Given the description of an element on the screen output the (x, y) to click on. 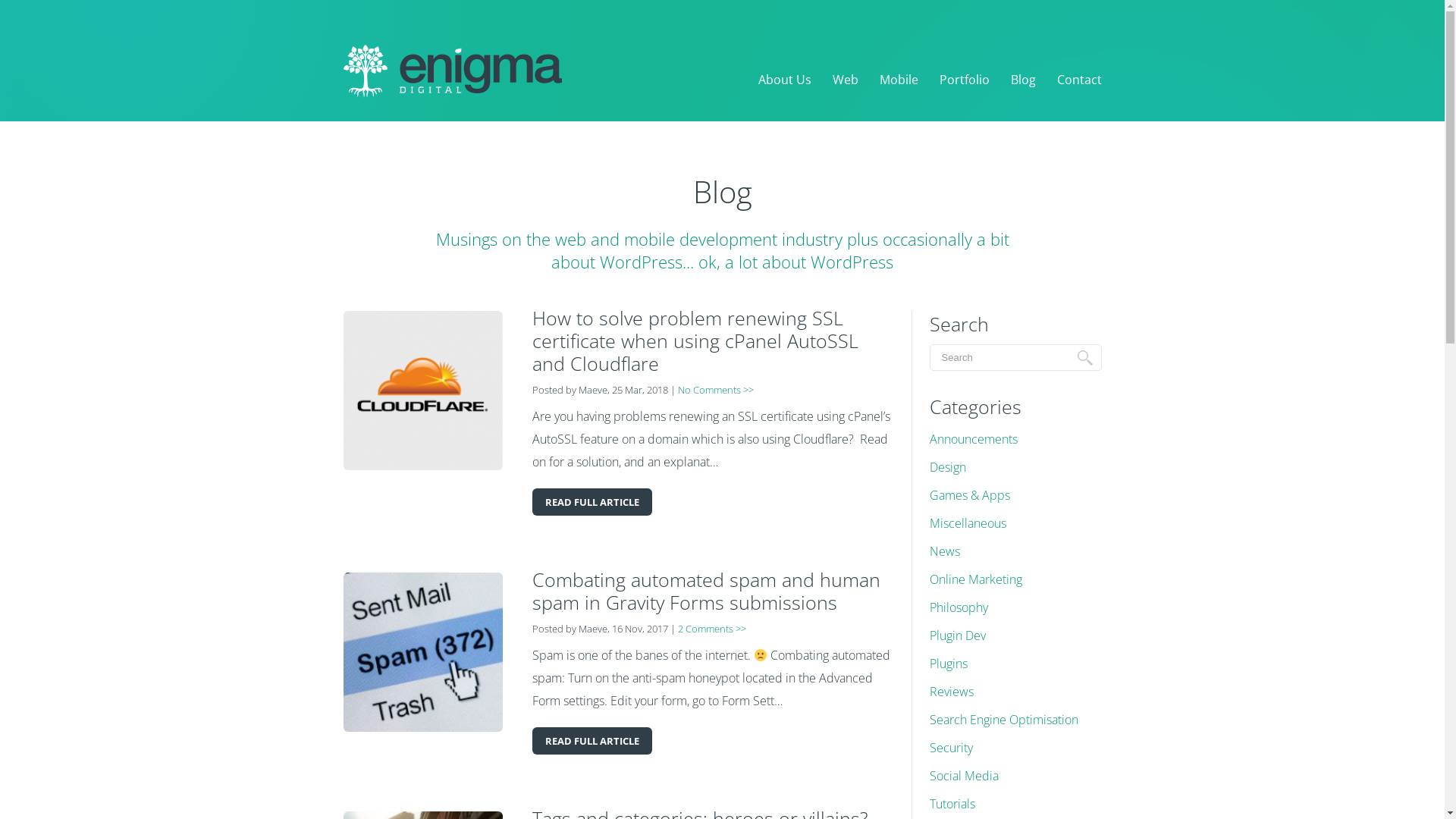
Search Element type: text (1084, 357)
Games & Apps Element type: text (969, 494)
Web Element type: text (845, 79)
Security Element type: text (950, 747)
Blog Element type: text (1022, 79)
Social Media Element type: text (963, 775)
Miscellaneous Element type: text (967, 522)
Reviews Element type: text (951, 691)
Tutorials Element type: text (952, 803)
Design Element type: text (947, 466)
Philosophy Element type: text (958, 607)
News Element type: text (944, 550)
Plugin Dev Element type: text (957, 635)
No Comments >> Element type: text (715, 389)
Search Engine Optimisation Element type: text (1003, 719)
Contact Element type: text (1079, 79)
Portfolio Element type: text (963, 79)
About Us Element type: text (784, 79)
2 Comments >> Element type: text (711, 628)
READ FULL ARTICLE Element type: text (592, 501)
Announcements Element type: text (973, 438)
Plugins Element type: text (948, 663)
Mobile Element type: text (898, 79)
Enigma Digital Element type: text (451, 70)
Online Marketing Element type: text (975, 579)
READ FULL ARTICLE Element type: text (592, 740)
